Given the description of an element on the screen output the (x, y) to click on. 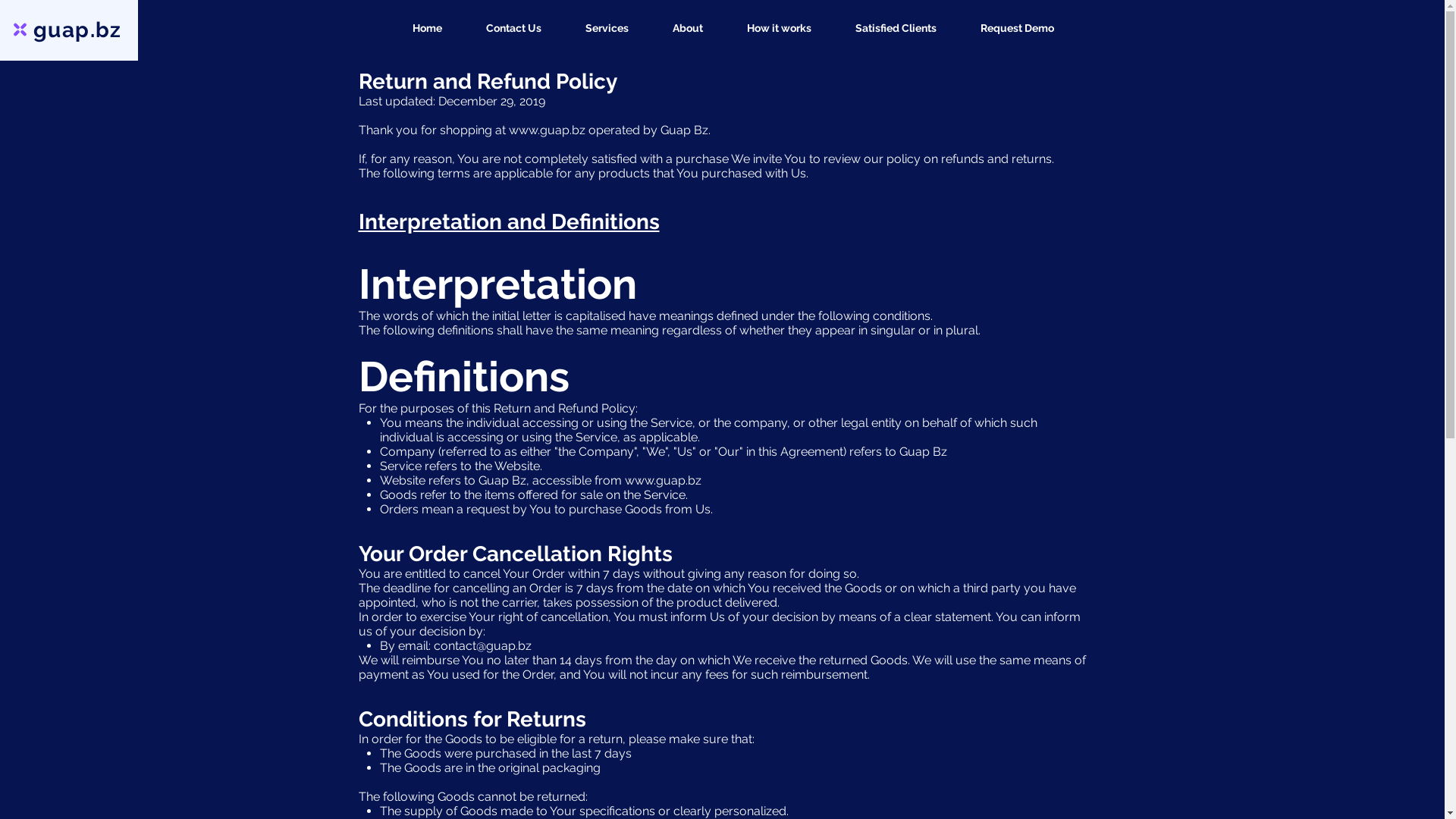
Request Demo Element type: text (1006, 27)
Satisfied Clients Element type: text (884, 27)
guap.bz Element type: text (77, 29)
contact@guap.bz Element type: text (482, 645)
www.guap.bz Element type: text (662, 480)
Services Element type: text (596, 27)
Contact Us Element type: text (502, 27)
Home Element type: text (416, 27)
www.guap.bz Element type: text (546, 129)
About Element type: text (677, 27)
How it works Element type: text (768, 27)
